Given the description of an element on the screen output the (x, y) to click on. 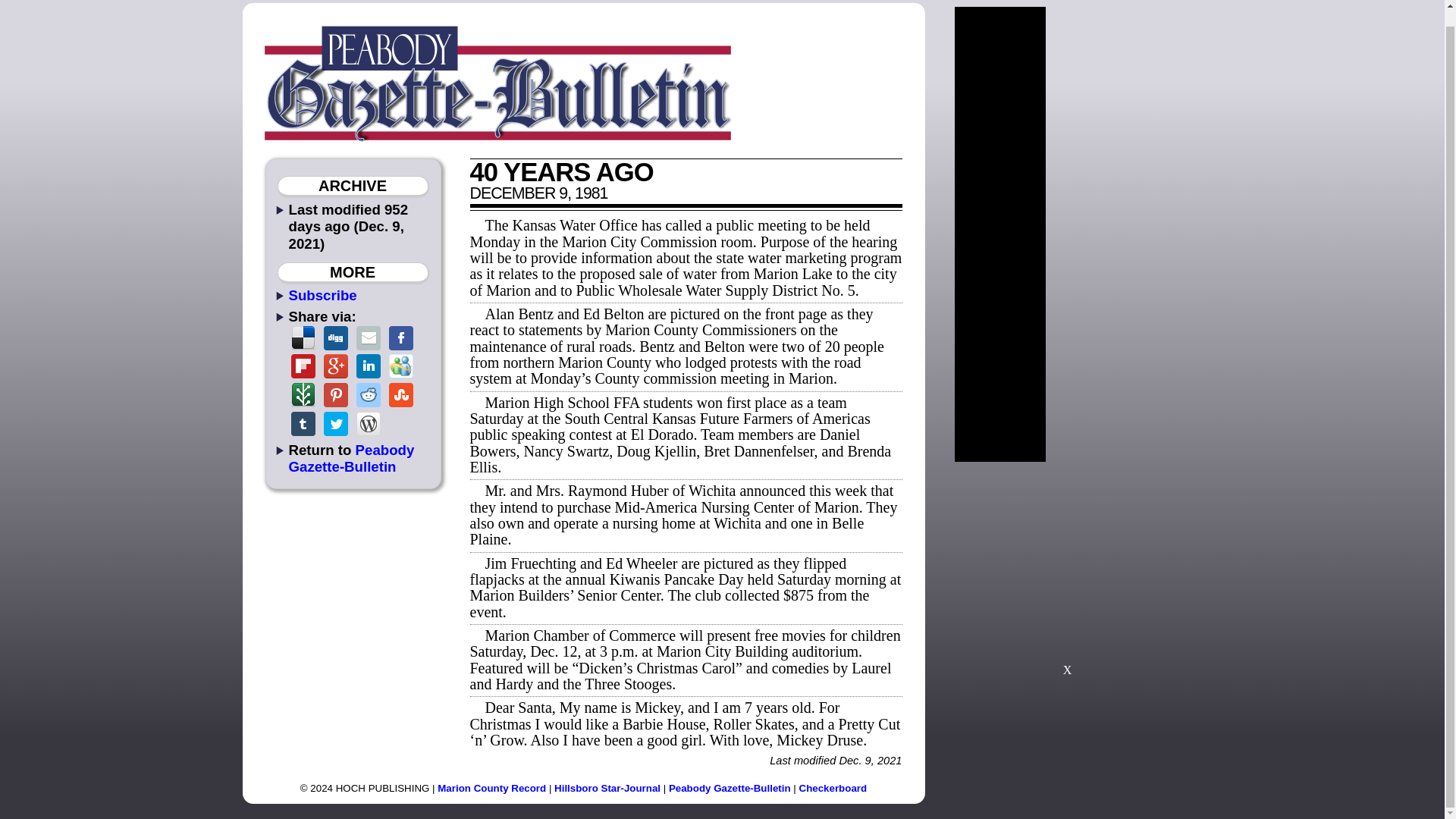
Subscribe (322, 295)
Marion County Record (492, 787)
Advertisement (1123, 233)
Checkerboard (833, 787)
Advertisement (1067, 575)
Peabody Gazette-Bulletin (350, 458)
Hillsboro Star-Journal (607, 787)
Peabody Gazette-Bulletin (729, 787)
